Given the description of an element on the screen output the (x, y) to click on. 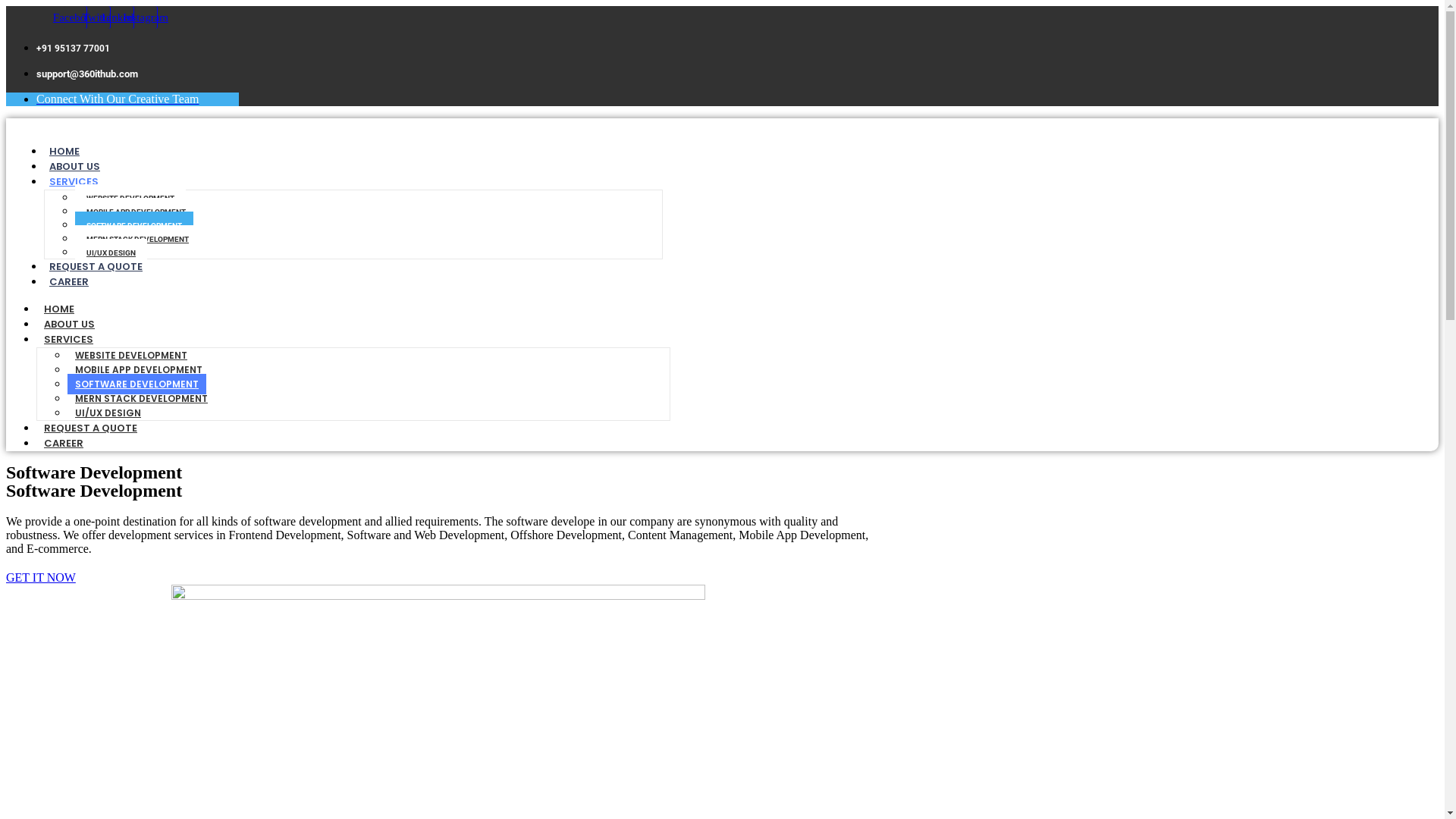
ABOUT US Element type: text (69, 323)
UI/UX DESIGN Element type: text (107, 412)
REQUEST A QUOTE Element type: text (95, 266)
ABOUT US Element type: text (74, 166)
MOBILE APP DEVELOPMENT Element type: text (138, 369)
SOFTWARE DEVELOPMENT Element type: text (136, 383)
SERVICES Element type: text (73, 181)
GET IT NOW Element type: text (40, 577)
UI/UX DESIGN Element type: text (111, 252)
MERN STACK DEVELOPMENT Element type: text (137, 239)
Facebook Element type: text (75, 17)
MOBILE APP DEVELOPMENT Element type: text (136, 211)
HOME Element type: text (58, 308)
Instagram Element type: text (145, 17)
Linkedin Element type: text (122, 17)
REQUEST A QUOTE Element type: text (90, 427)
CAREER Element type: text (68, 281)
Connect With Our Creative Team Element type: text (117, 98)
CAREER Element type: text (63, 443)
SERVICES Element type: text (68, 339)
HOME Element type: text (63, 150)
Twitter Element type: text (98, 17)
WEBSITE DEVELOPMENT Element type: text (130, 355)
WEBSITE DEVELOPMENT Element type: text (130, 198)
MERN STACK DEVELOPMENT Element type: text (141, 398)
SOFTWARE DEVELOPMENT Element type: text (134, 225)
